Given the description of an element on the screen output the (x, y) to click on. 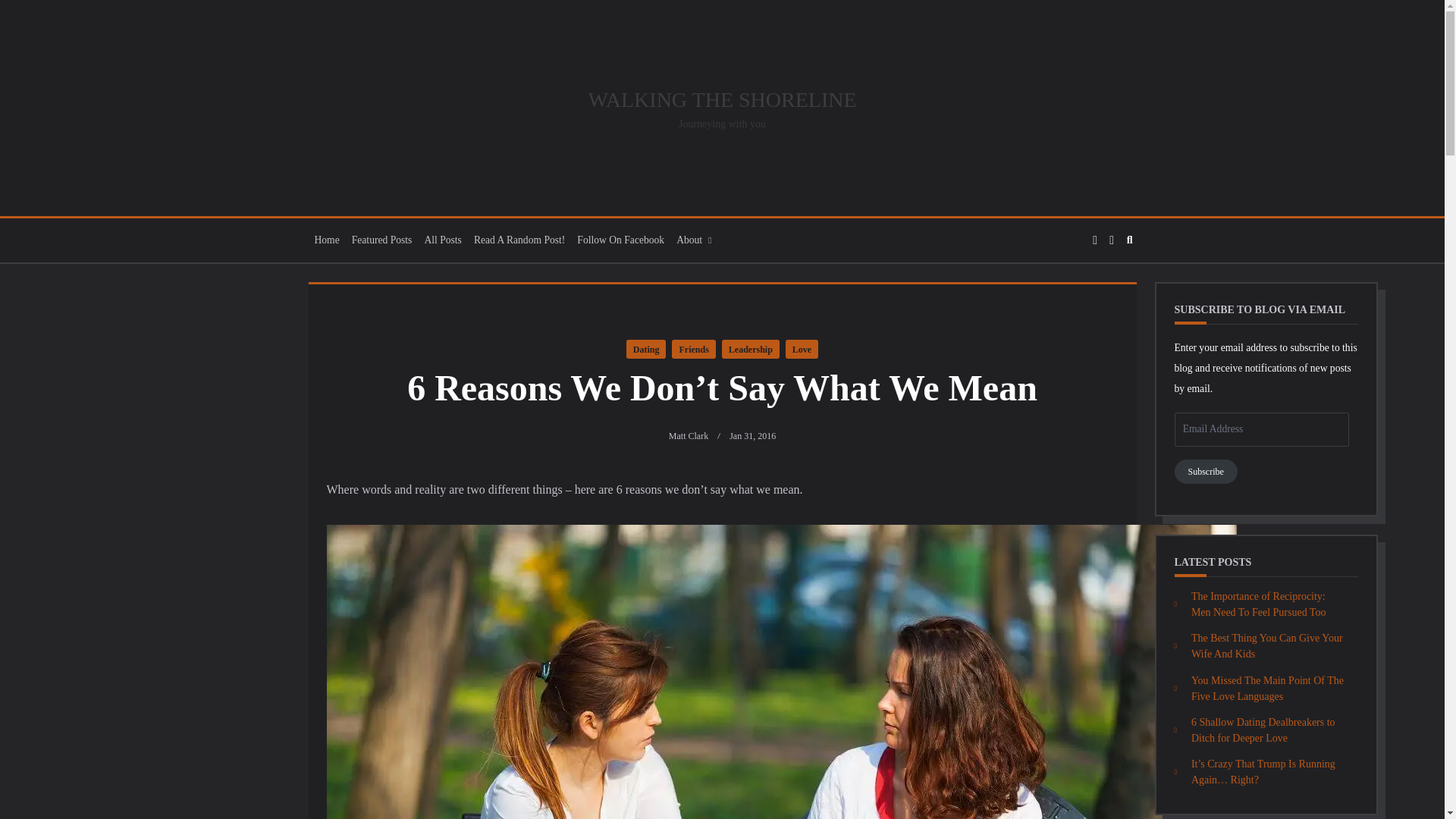
Featured Posts (382, 239)
All Posts (442, 239)
Home (326, 239)
WALKING THE SHORELINE (722, 99)
